Given the description of an element on the screen output the (x, y) to click on. 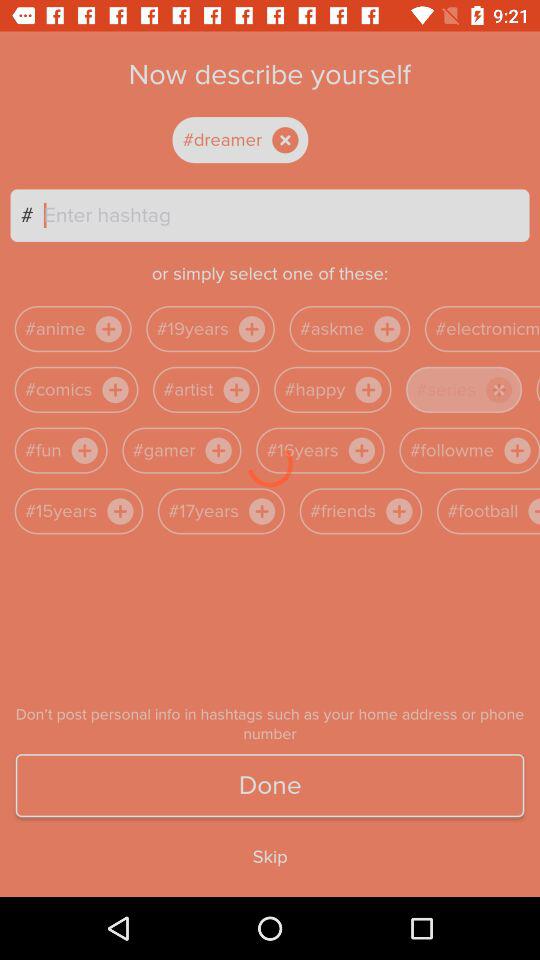
enter the text bar (286, 215)
